Given the description of an element on the screen output the (x, y) to click on. 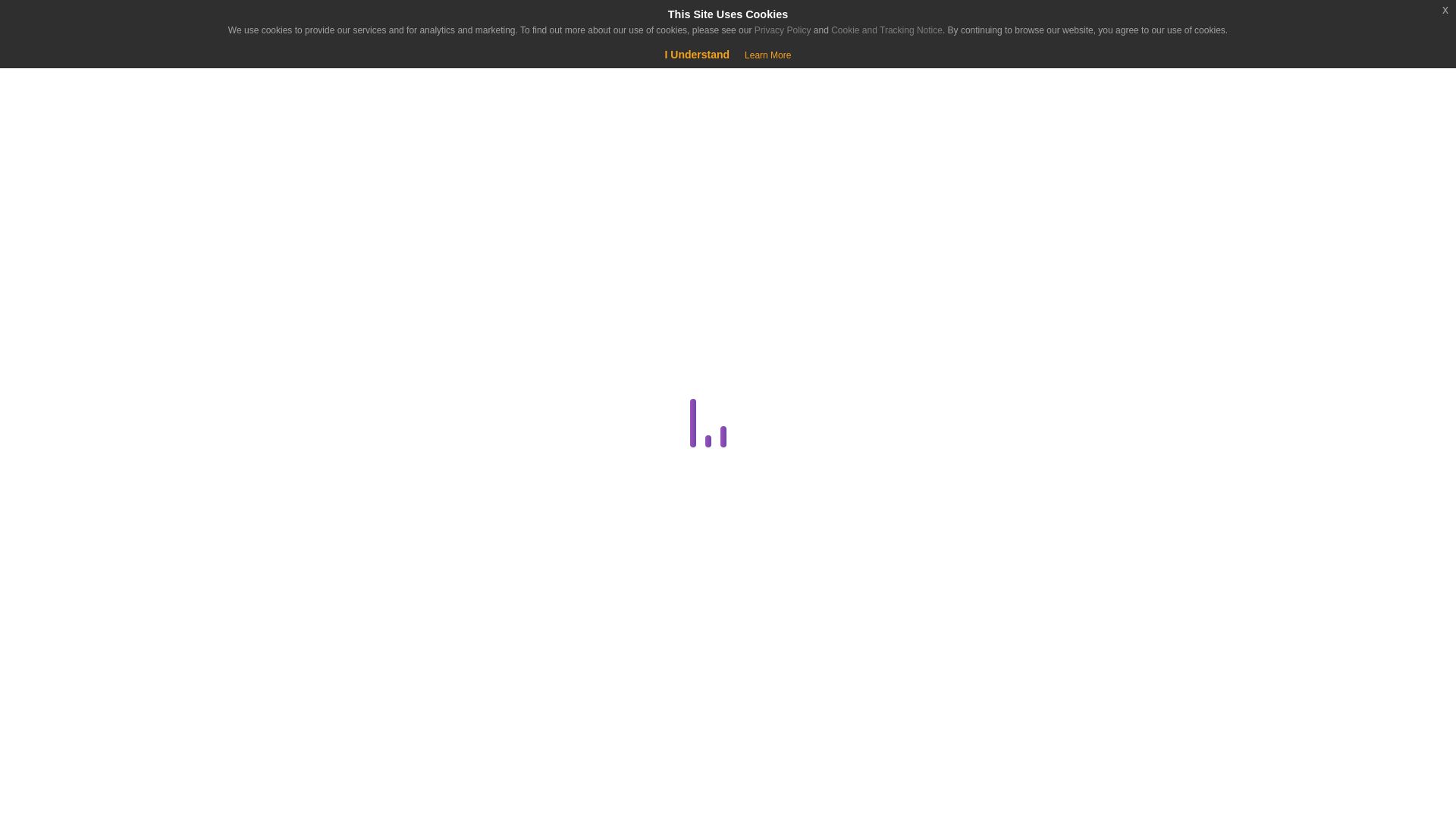
Domains API (283, 567)
Billing (281, 349)
Software (281, 786)
Video Tutorials (281, 816)
Home (94, 138)
Dedicated Server Guides (281, 495)
Databases (281, 458)
Affiliates (283, 312)
Shopping Cart (59, 76)
cPanel (281, 422)
Store (94, 176)
Email (281, 604)
Domains and DNS (281, 531)
Colocation Guides (283, 385)
FTP (283, 640)
